Given the description of an element on the screen output the (x, y) to click on. 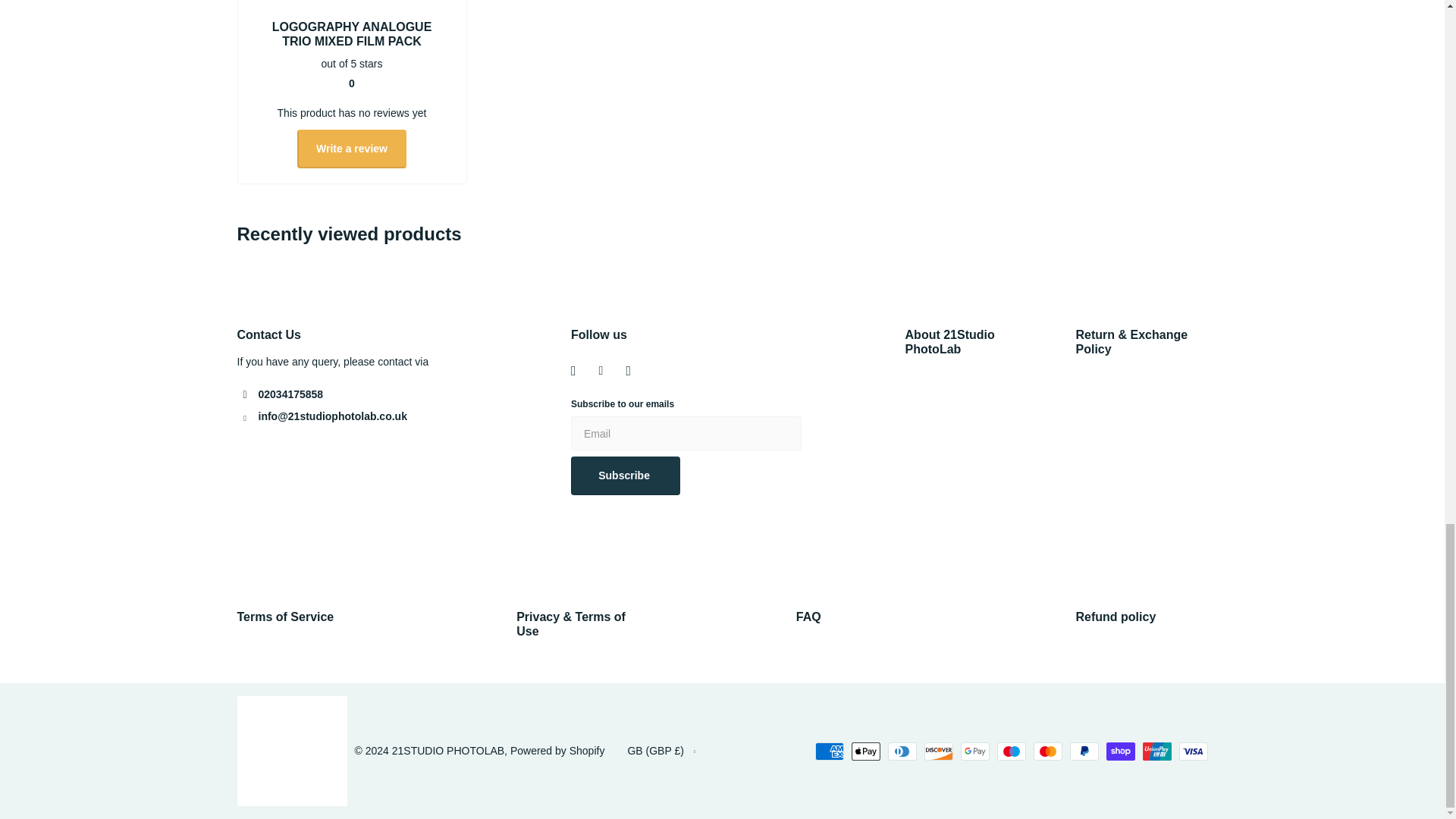
Diners Club (900, 751)
Apple Pay (864, 751)
Union Pay (1155, 751)
Mastercard (1046, 751)
Maestro (1010, 751)
Shop Pay (1119, 751)
Discover (937, 751)
PayPal (1082, 751)
American Express (828, 751)
Google Pay (973, 751)
